Given the description of an element on the screen output the (x, y) to click on. 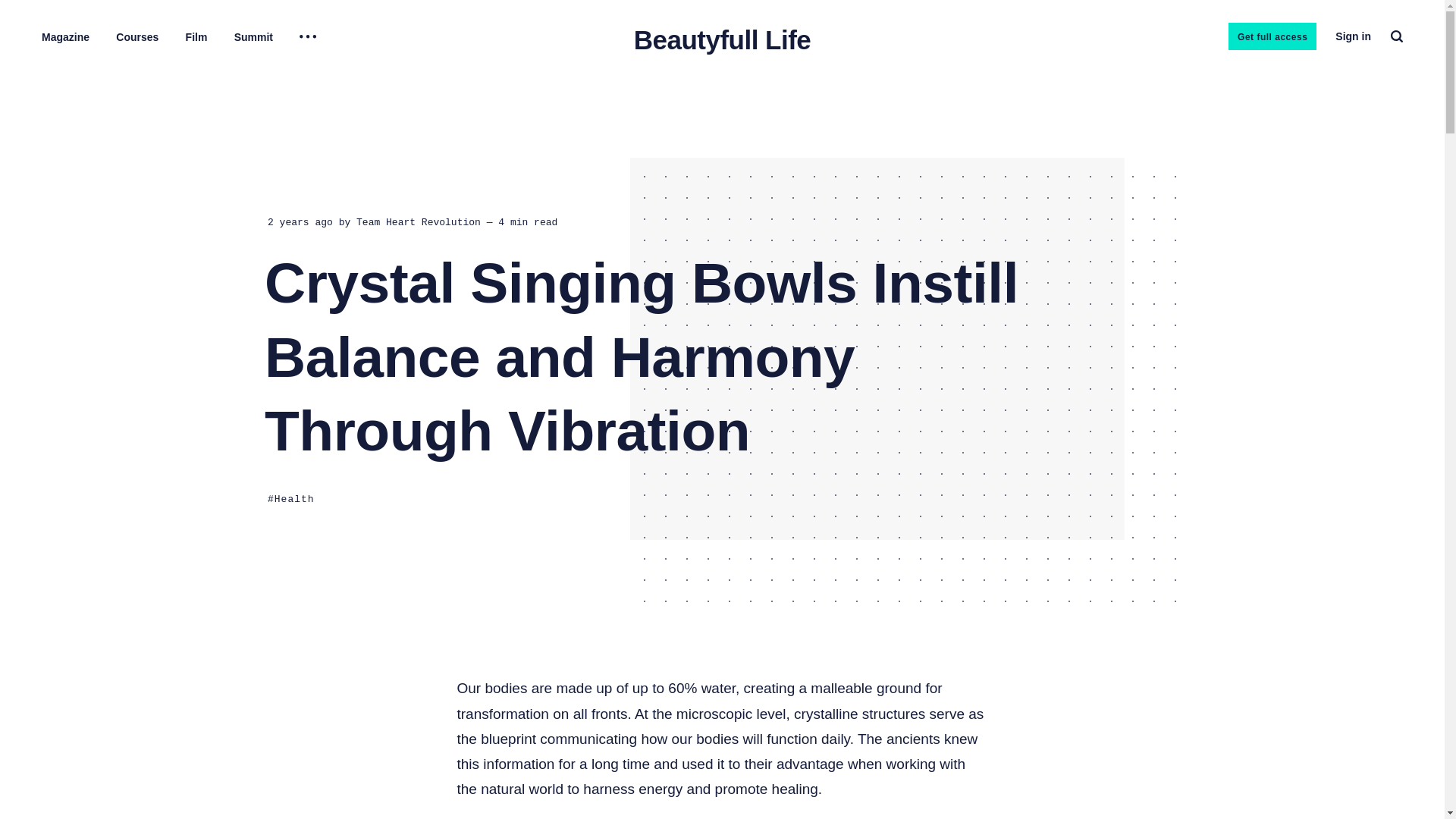
Beautyfull Life (721, 39)
Magazine (65, 37)
Courses (137, 37)
Get full access (1272, 35)
Summit (253, 37)
Health (290, 515)
Team Heart Revolution (418, 239)
Film (197, 37)
Sign in (1353, 36)
